Given the description of an element on the screen output the (x, y) to click on. 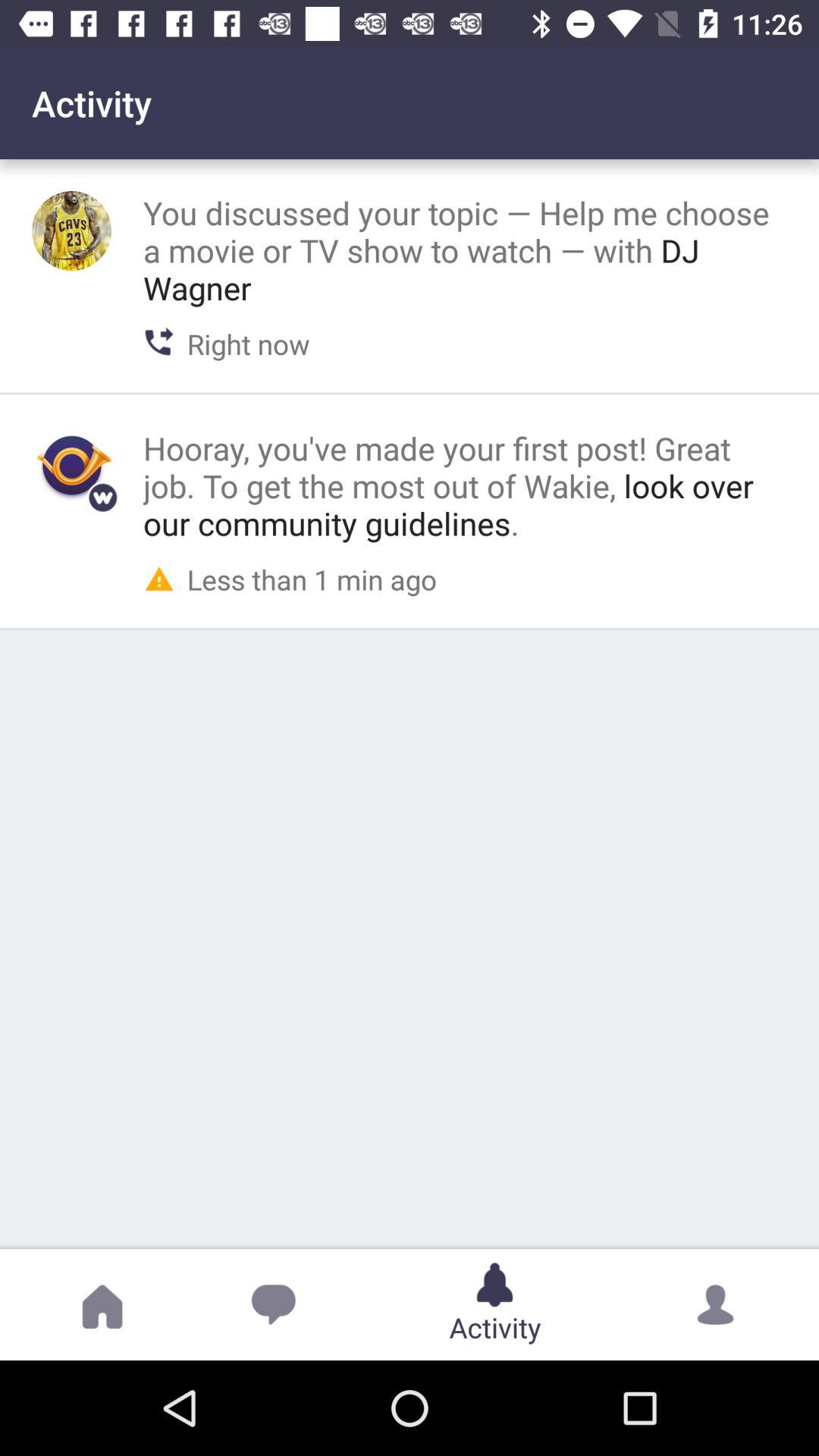
see user 's avatar (71, 230)
